Given the description of an element on the screen output the (x, y) to click on. 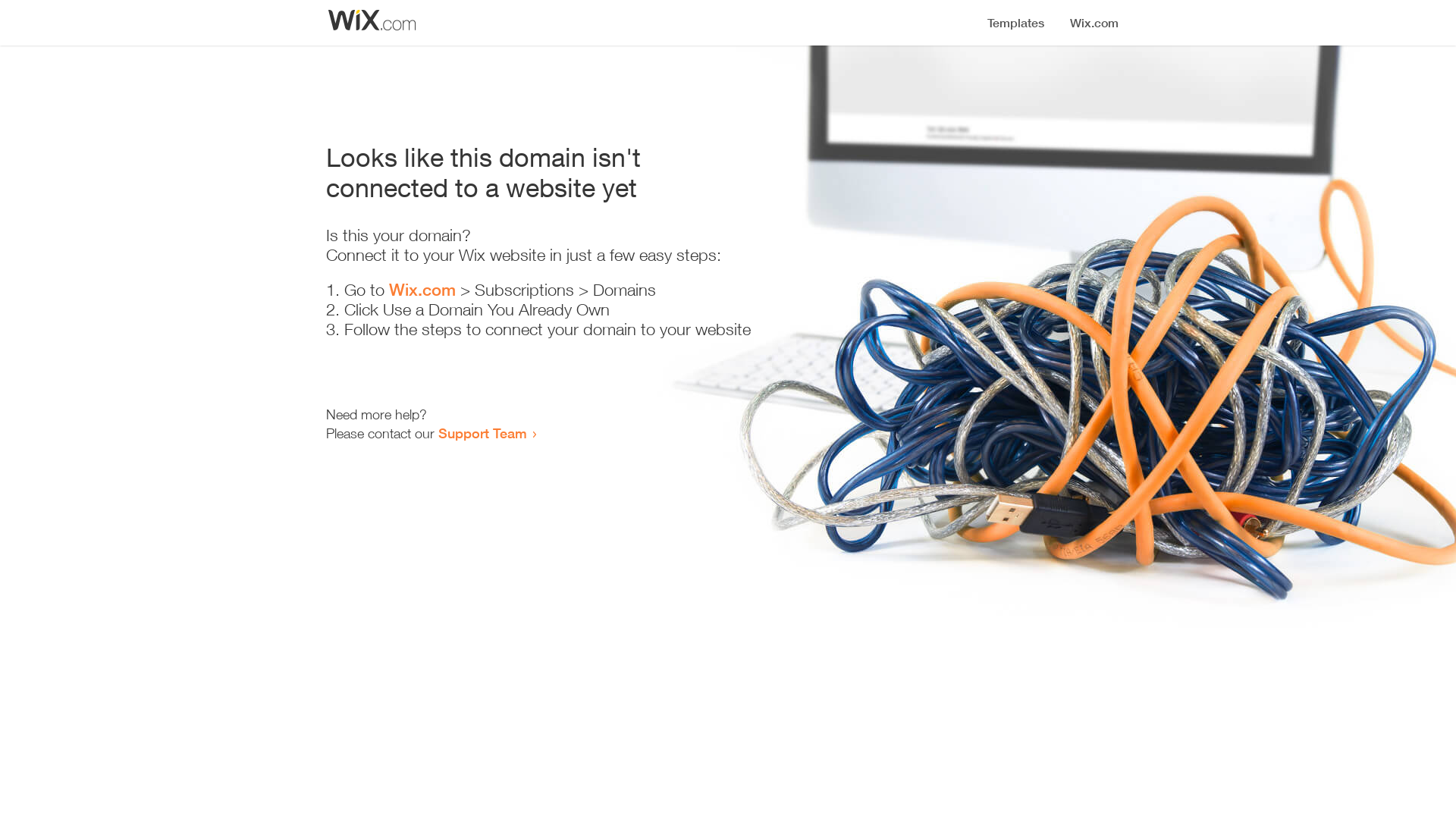
Wix.com Element type: text (422, 289)
Support Team Element type: text (482, 432)
